Given the description of an element on the screen output the (x, y) to click on. 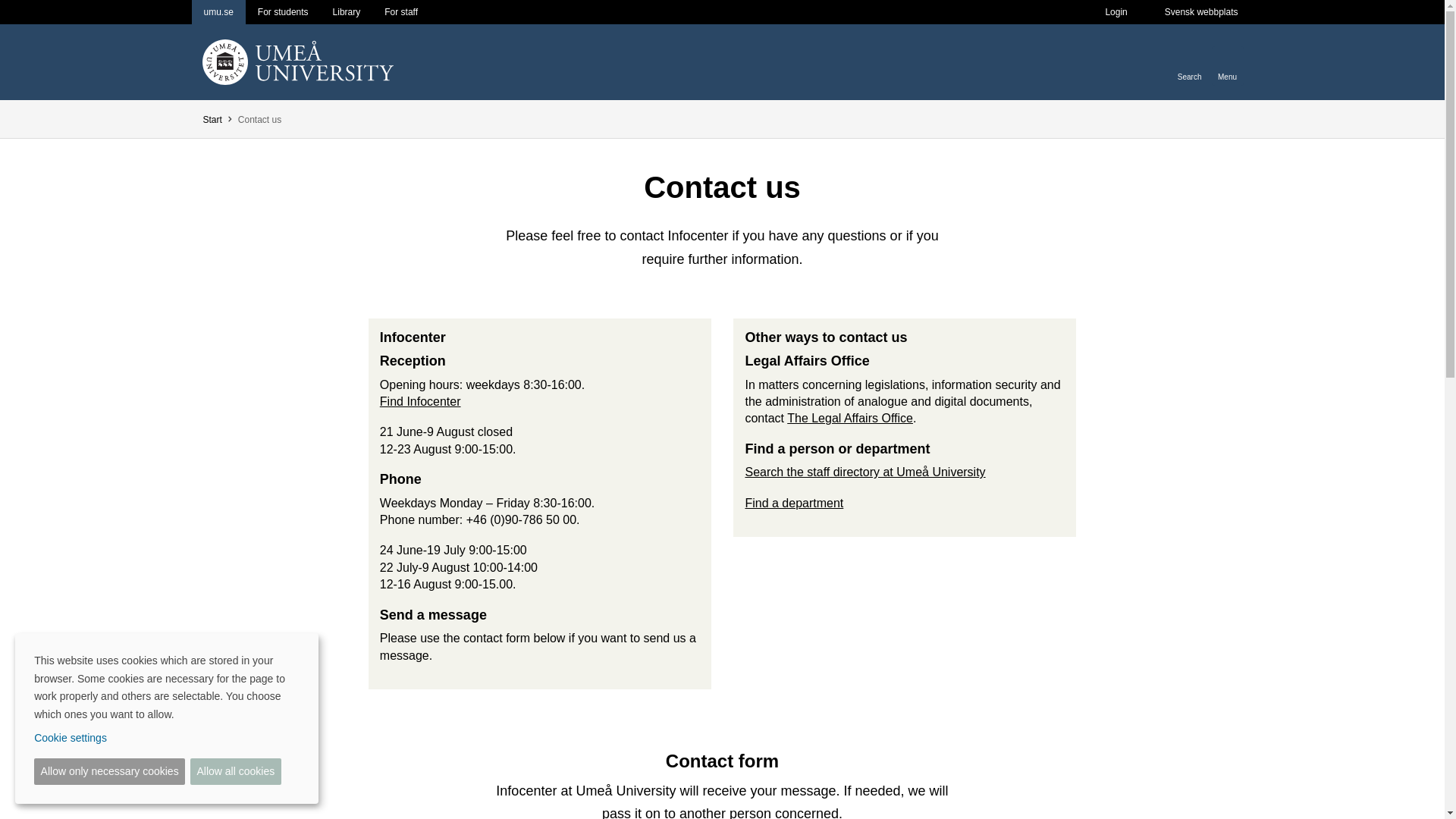
For staff (400, 12)
Staff website Aurora (400, 12)
Library (346, 12)
Login (1114, 12)
Find Infocenter (420, 400)
Find a department (793, 502)
Start (211, 119)
The Legal Affairs Office (849, 418)
Library website (346, 12)
For students (283, 12)
Student website (283, 12)
Svensk webbplats (1201, 12)
Map Infocenter (420, 400)
